Given the description of an element on the screen output the (x, y) to click on. 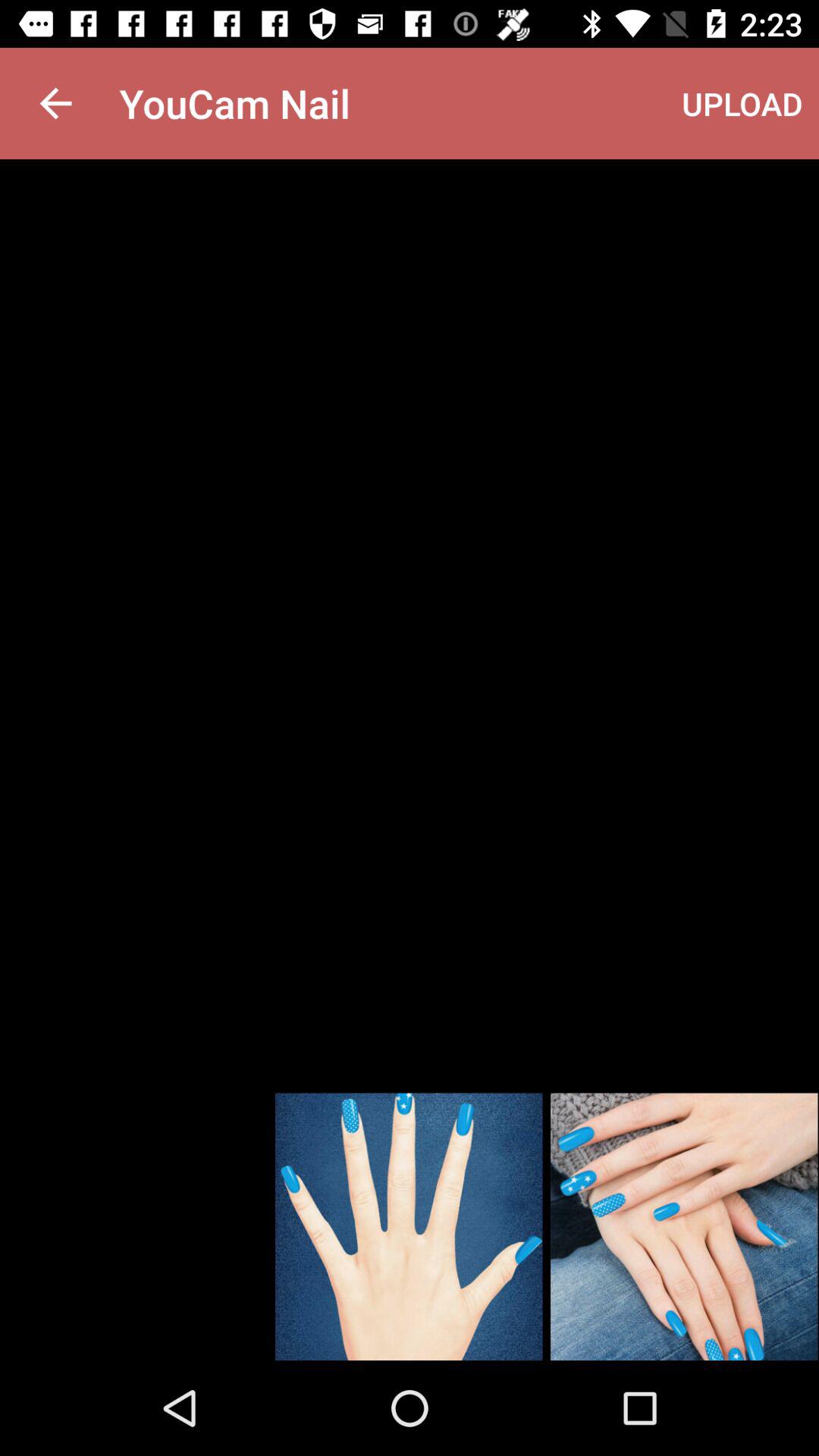
launch the item to the right of youcam nail (742, 103)
